Given the description of an element on the screen output the (x, y) to click on. 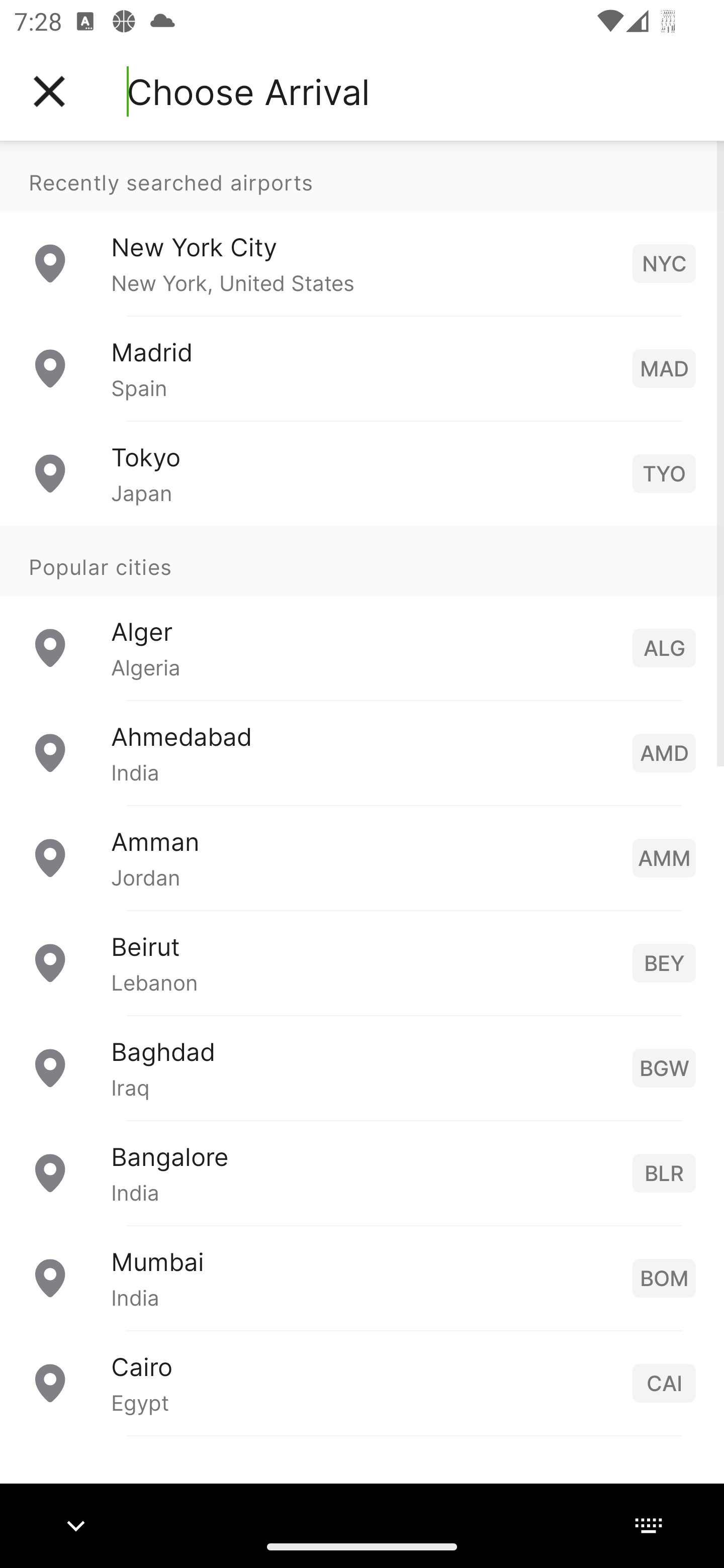
Choose Arrival (247, 91)
Recently searched airports (362, 176)
Madrid Spain MAD (362, 367)
Tokyo Japan TYO (362, 472)
Popular cities Alger Algeria ALG (362, 612)
Popular cities (362, 560)
Ahmedabad India AMD (362, 751)
Amman Jordan AMM (362, 856)
Beirut Lebanon BEY (362, 961)
Baghdad Iraq BGW (362, 1066)
Bangalore India BLR (362, 1171)
Mumbai India BOM (362, 1276)
Cairo Egypt CAI (362, 1381)
